Given the description of an element on the screen output the (x, y) to click on. 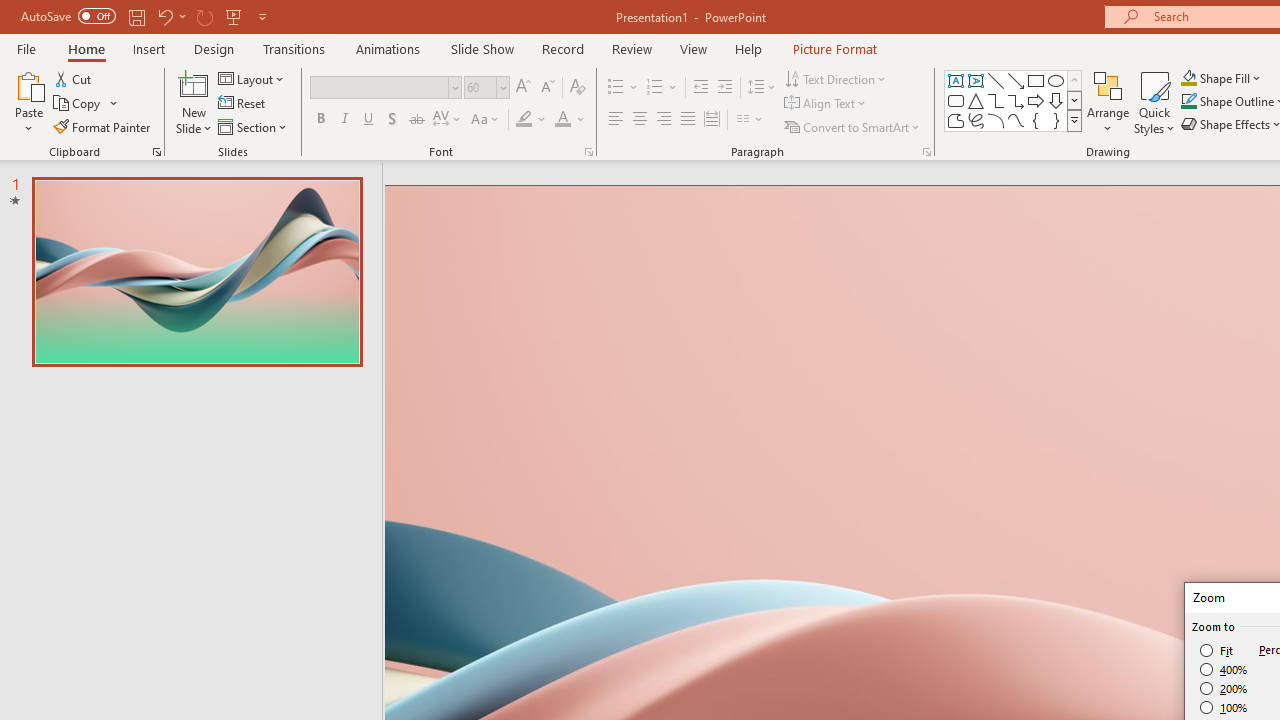
Picture Format (834, 48)
100% (1224, 707)
400% (1224, 669)
Shape Fill Orange, Accent 2 (1188, 78)
